Given the description of an element on the screen output the (x, y) to click on. 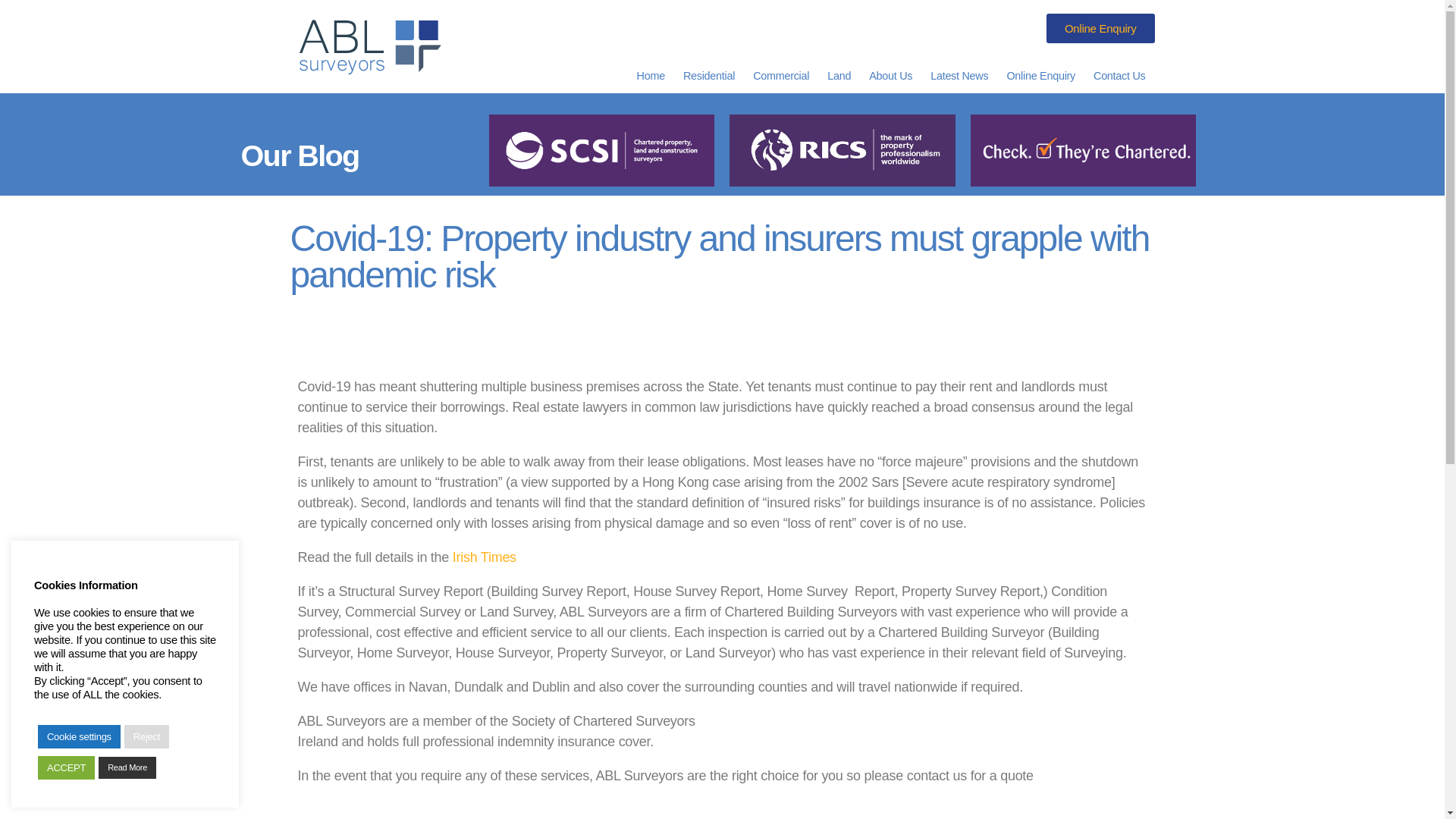
Land (839, 75)
Residential (709, 75)
Contact Us (1119, 75)
Latest News (959, 75)
Home (650, 75)
About Us (890, 75)
Commercial (781, 75)
Online Enquiry (1040, 75)
Online Enquiry (1100, 28)
